Given the description of an element on the screen output the (x, y) to click on. 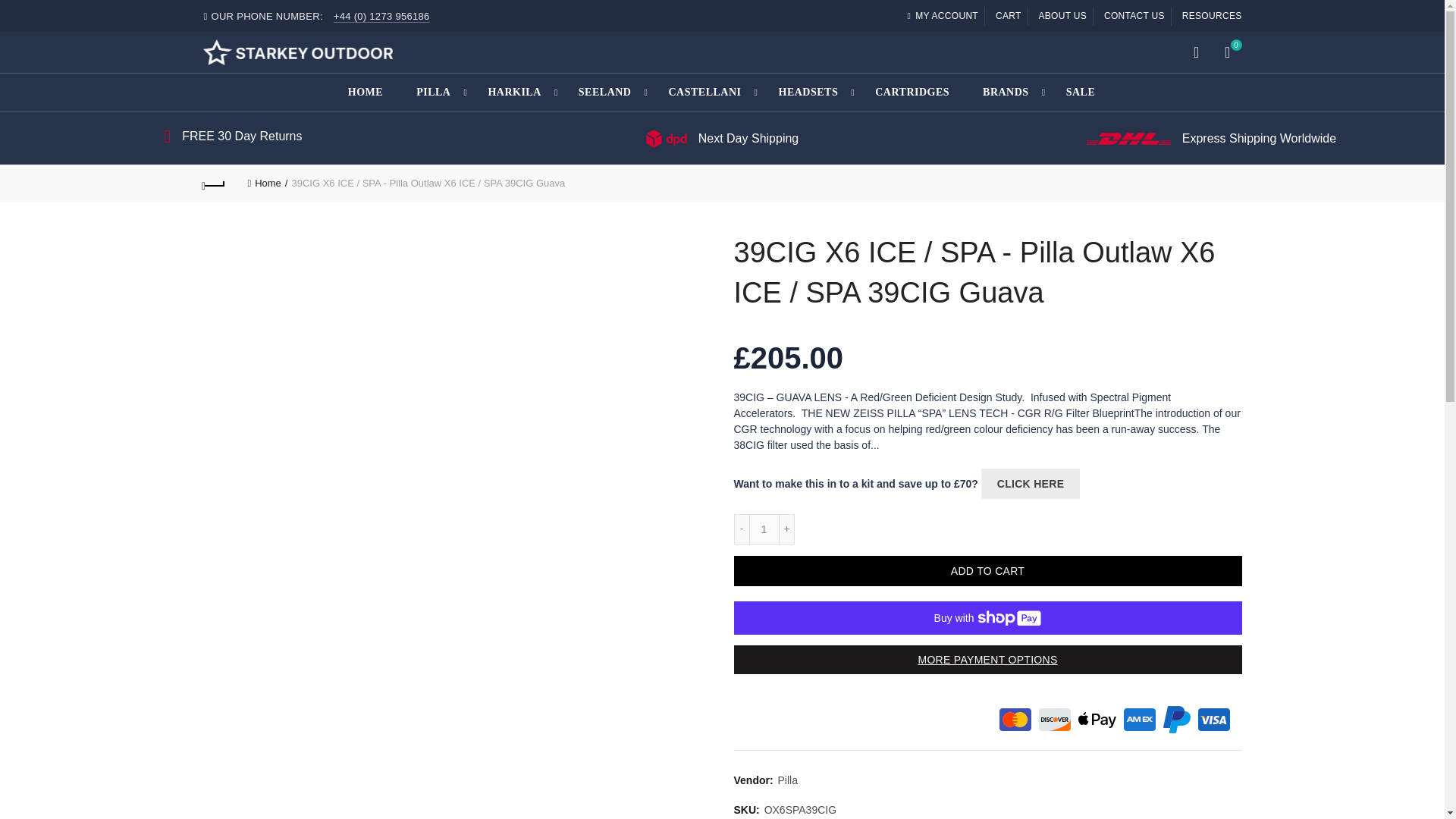
Qty (763, 529)
Pilla (787, 780)
1 (763, 529)
